Given the description of an element on the screen output the (x, y) to click on. 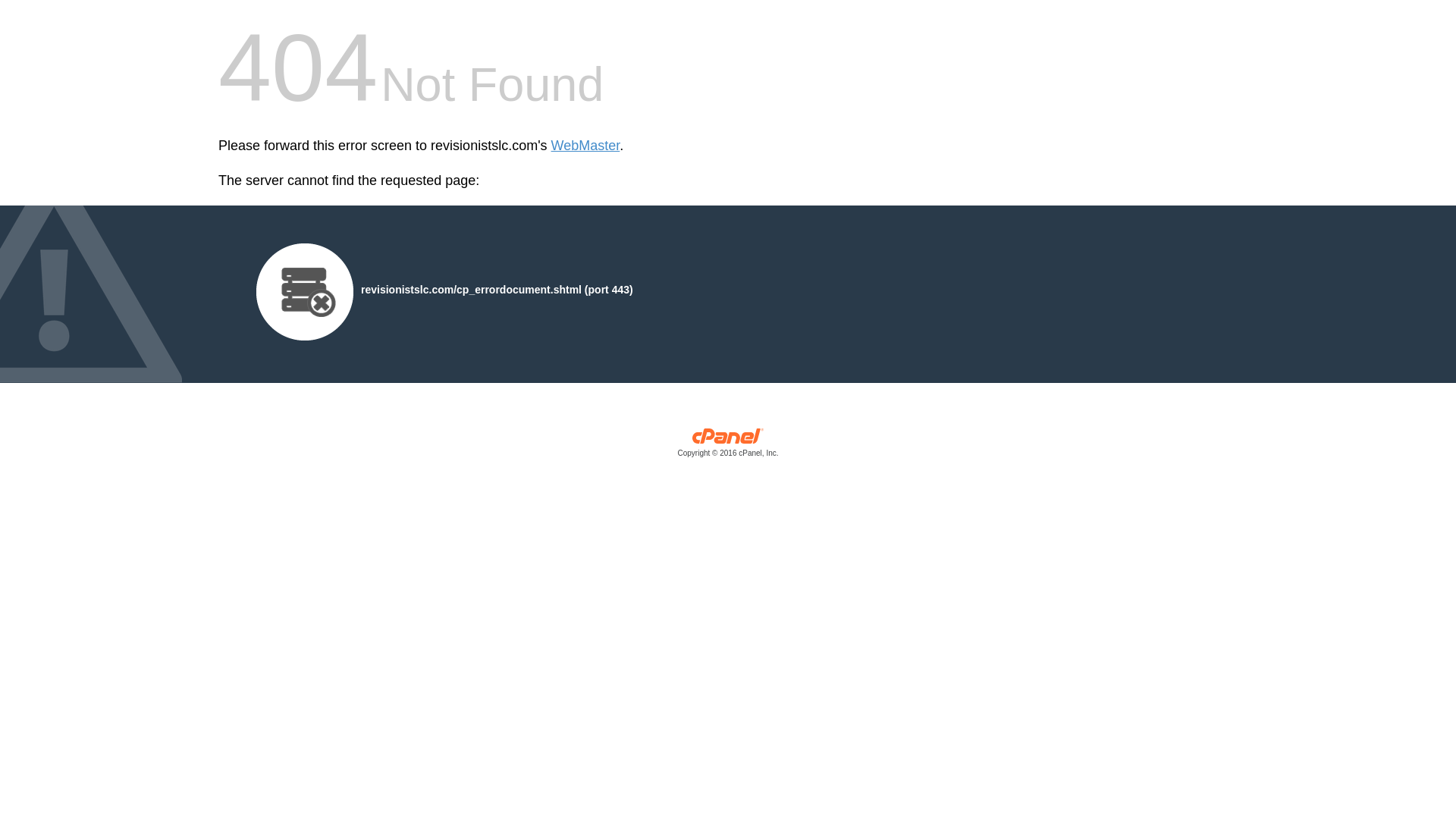
WebMaster (585, 145)
cPanel, Inc. (727, 446)
